Given the description of an element on the screen output the (x, y) to click on. 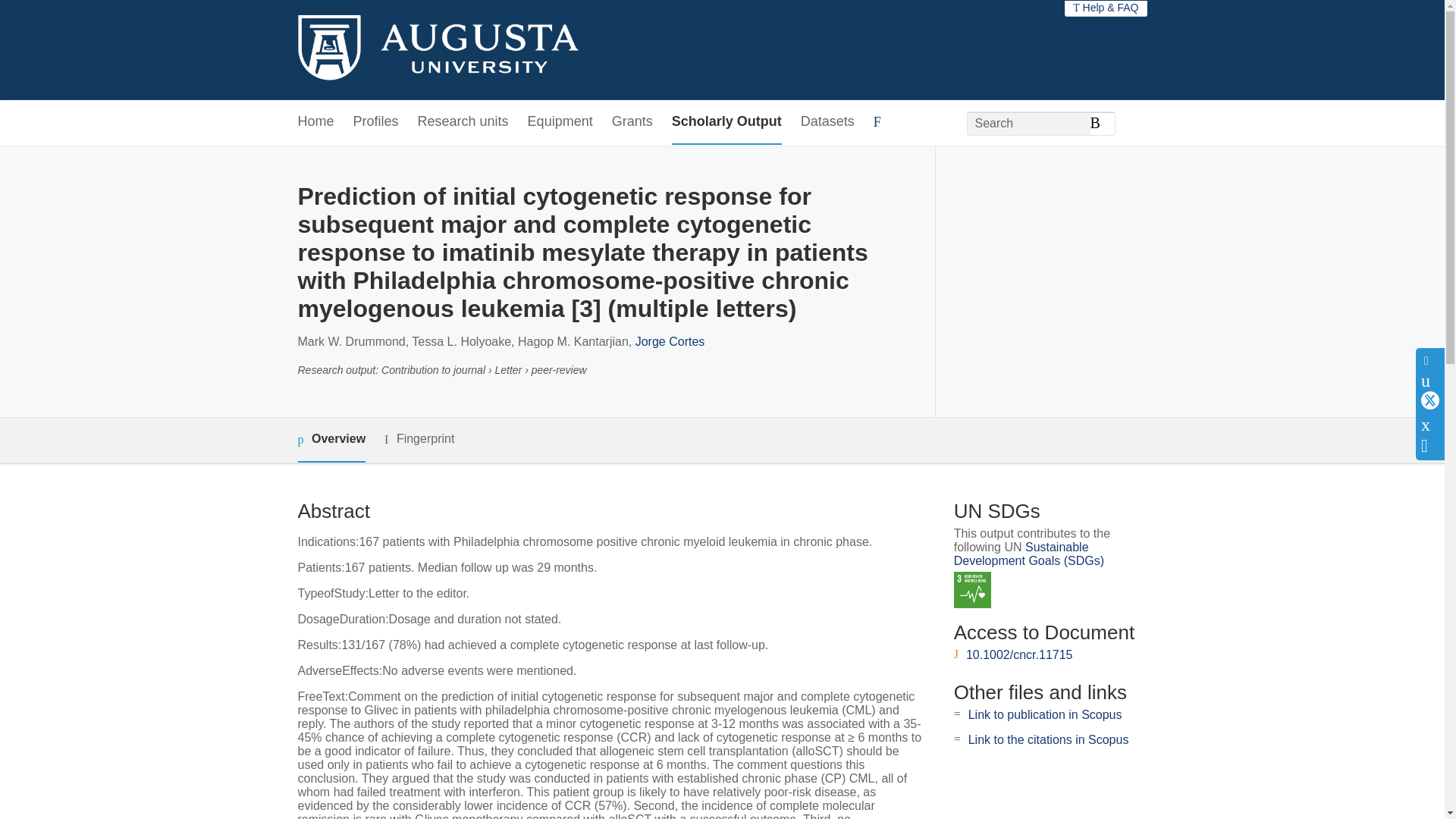
Datasets (827, 121)
Overview (331, 439)
Scholarly Output (726, 121)
Augusta University Research Profiles Home (437, 50)
Jorge Cortes (669, 341)
Profiles (375, 121)
Link to the citations in Scopus (1048, 739)
SDG 3 - Good Health and Well-being (972, 590)
Grants (631, 121)
